Given the description of an element on the screen output the (x, y) to click on. 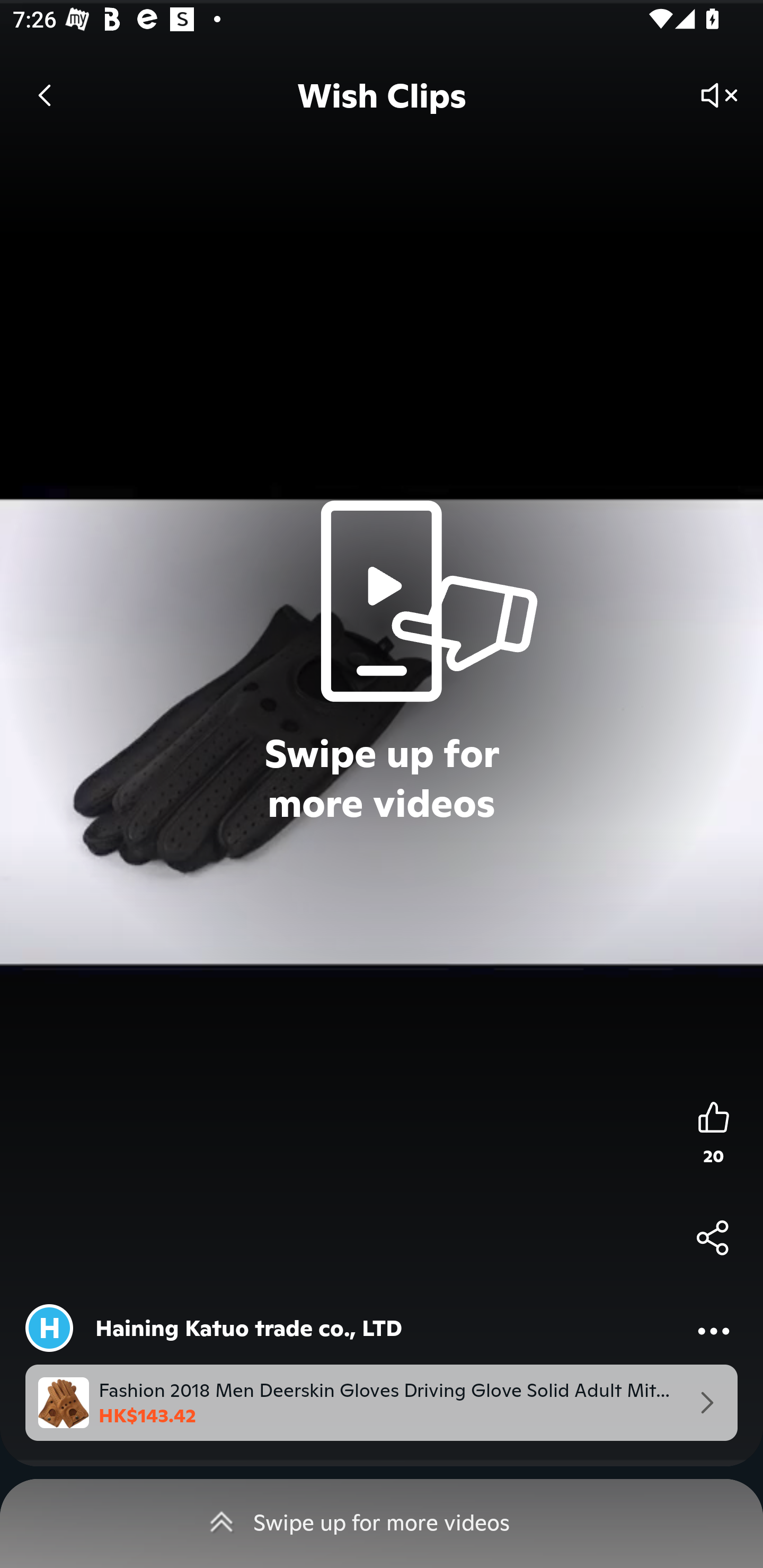
H (49, 1327)
Haining Katuo trade co., LTD (248, 1327)
